Given the description of an element on the screen output the (x, y) to click on. 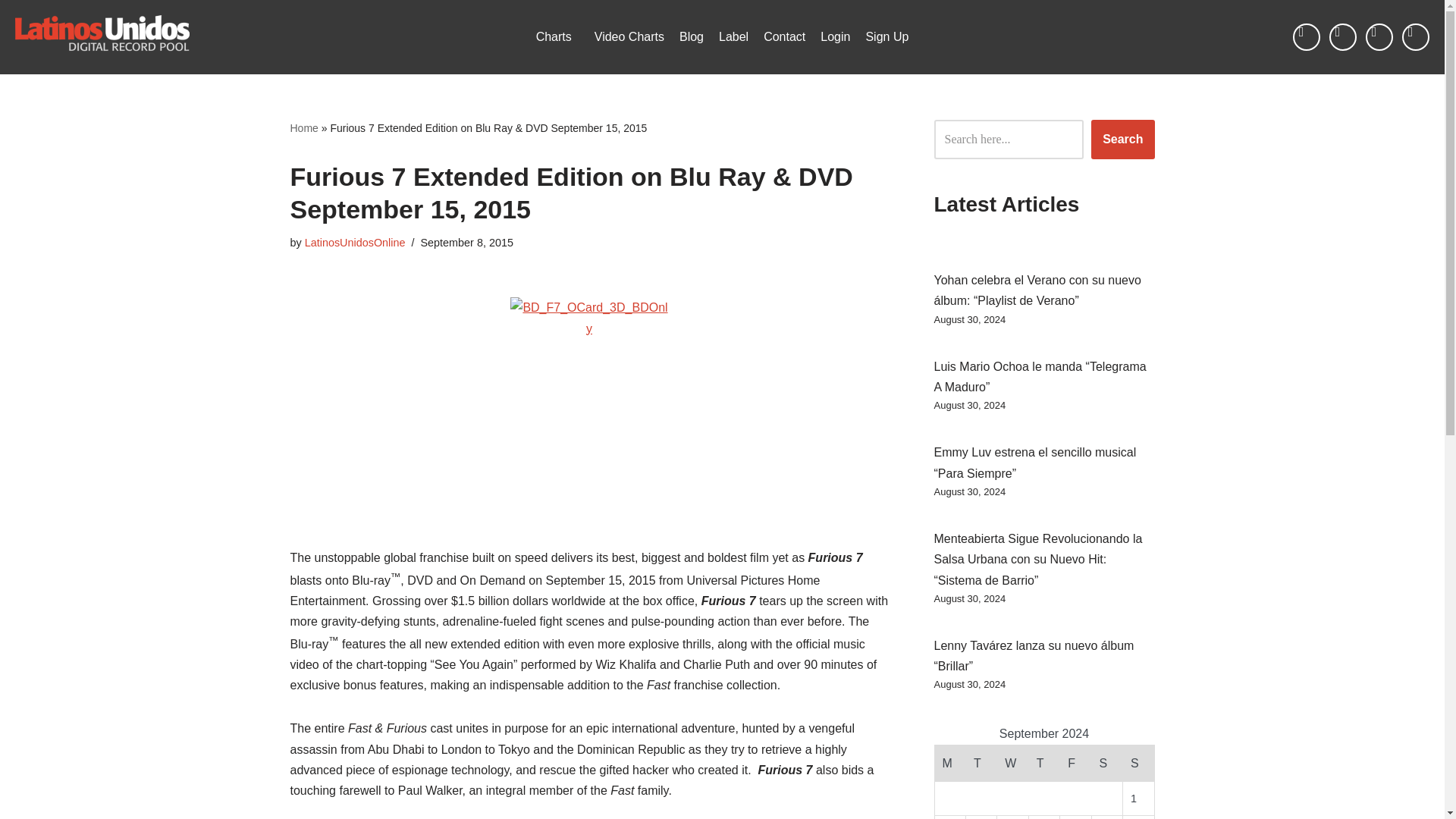
Posts by LatinosUnidosOnline (355, 242)
Search (1122, 138)
Charts (557, 36)
Login (834, 36)
Skip to content (11, 31)
Video Charts (628, 36)
Sign Up (886, 36)
Home (303, 128)
Label (733, 36)
LatinosUnidosOnline (355, 242)
